Given the description of an element on the screen output the (x, y) to click on. 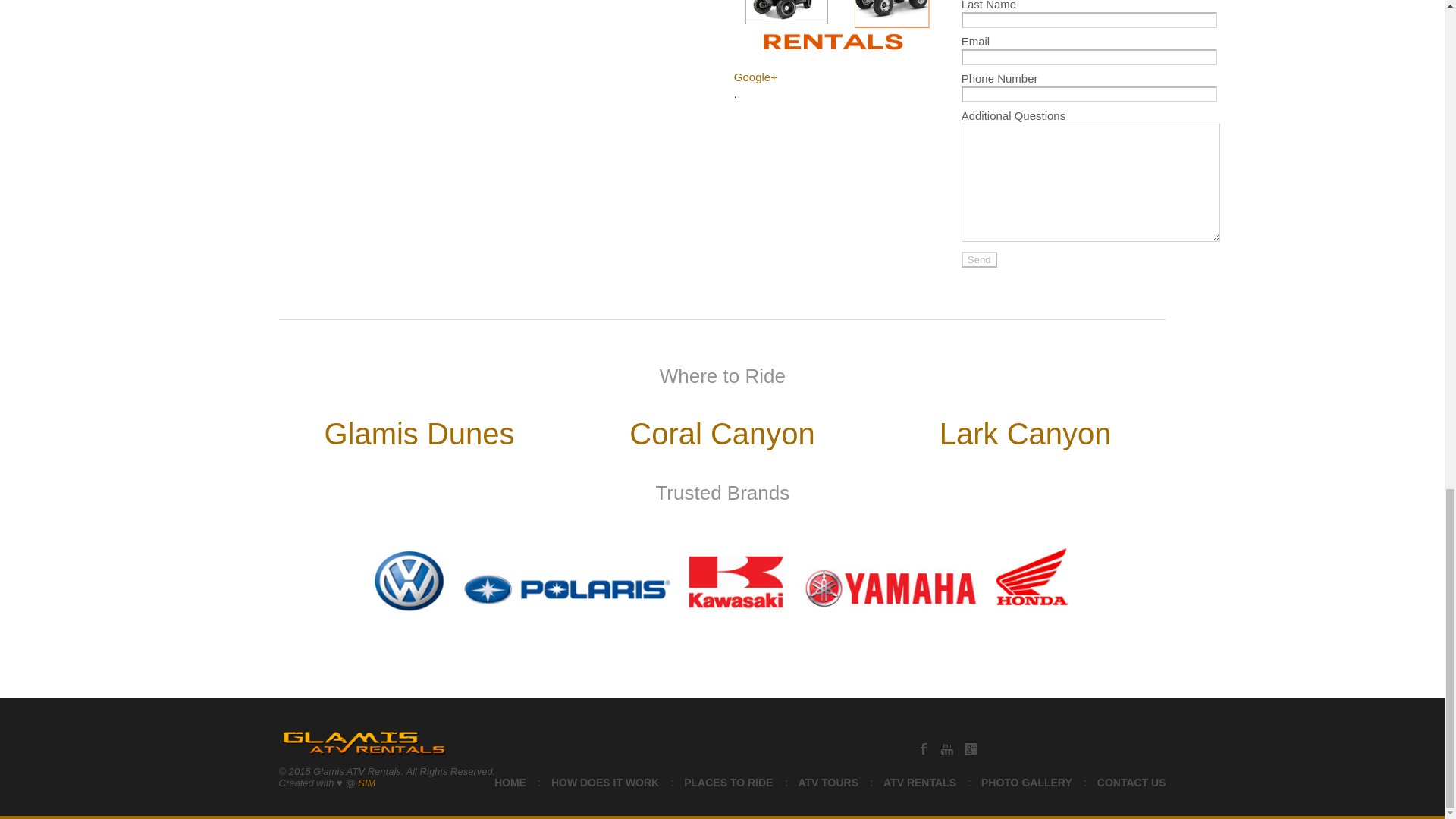
Google Plus (969, 748)
Send (978, 259)
YouTube (946, 748)
Facebook (923, 748)
